Given the description of an element on the screen output the (x, y) to click on. 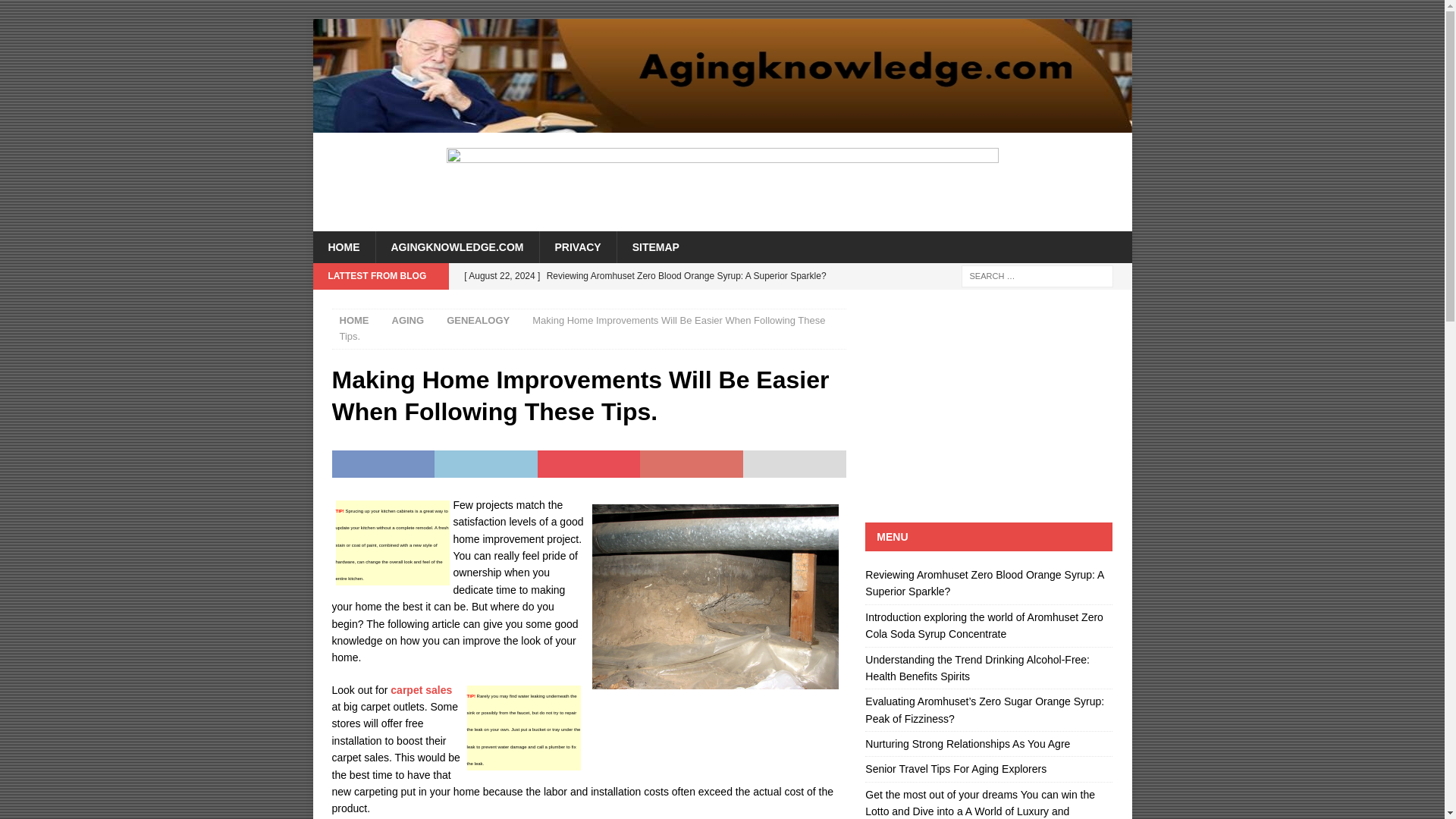
AGING (407, 319)
GENEALOGY (477, 319)
HOME (343, 246)
PRIVACY (576, 246)
Search (56, 11)
HOME (354, 319)
AGINGKNOWLEDGE.COM (456, 246)
SITEMAP (654, 246)
